Given the description of an element on the screen output the (x, y) to click on. 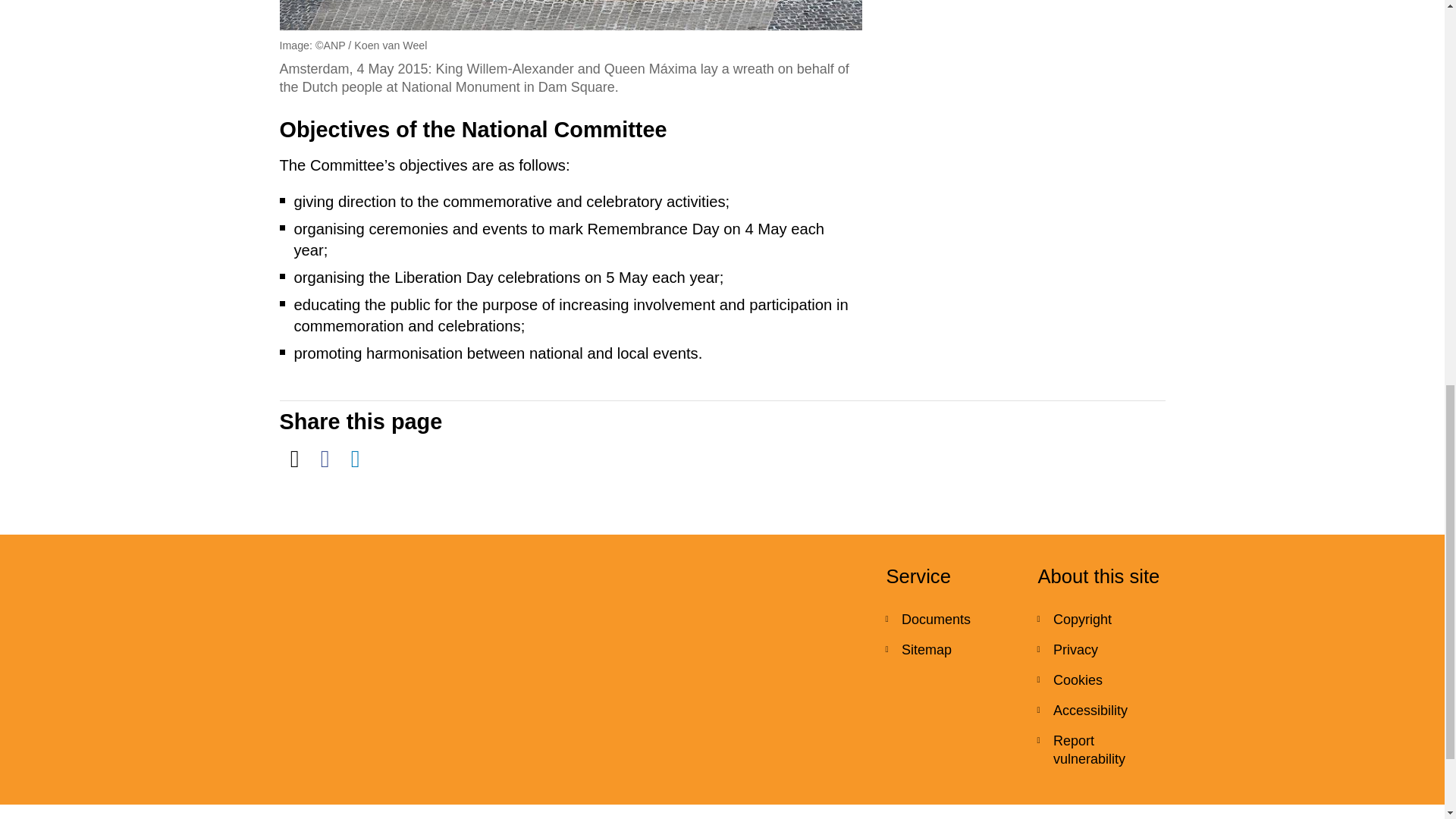
Accessibility (1100, 710)
Share this page on your Facebook account (323, 458)
Share this page on your Twitter account (293, 458)
Sitemap (949, 649)
Enlarge image (570, 15)
Copyright (1100, 619)
Report vulnerability (1100, 749)
Documents (949, 619)
Privacy (1100, 649)
Cookies (1100, 680)
Share this page on your LinkedIn account (354, 458)
